Given the description of an element on the screen output the (x, y) to click on. 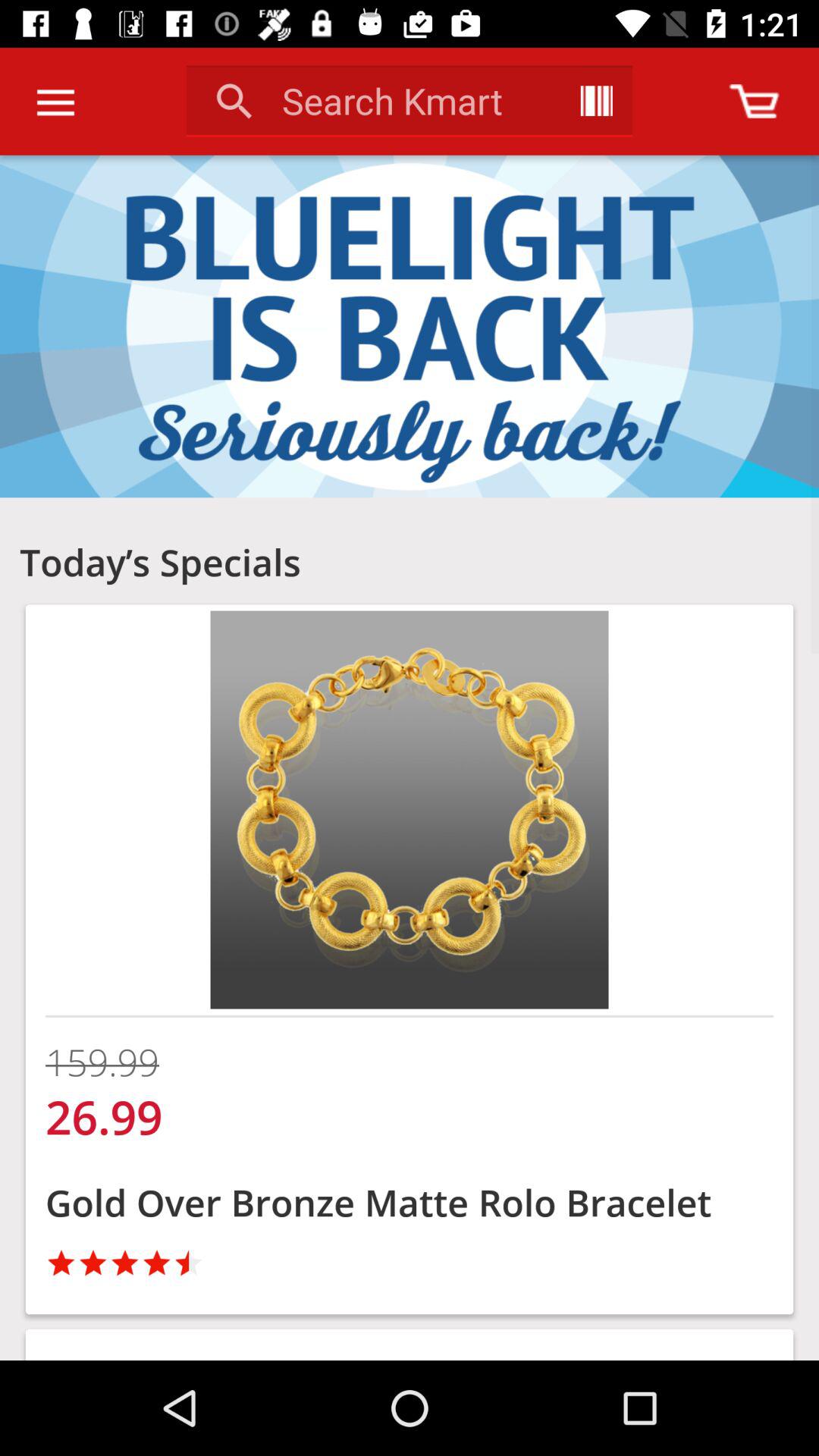
shopping cart (754, 101)
